Given the description of an element on the screen output the (x, y) to click on. 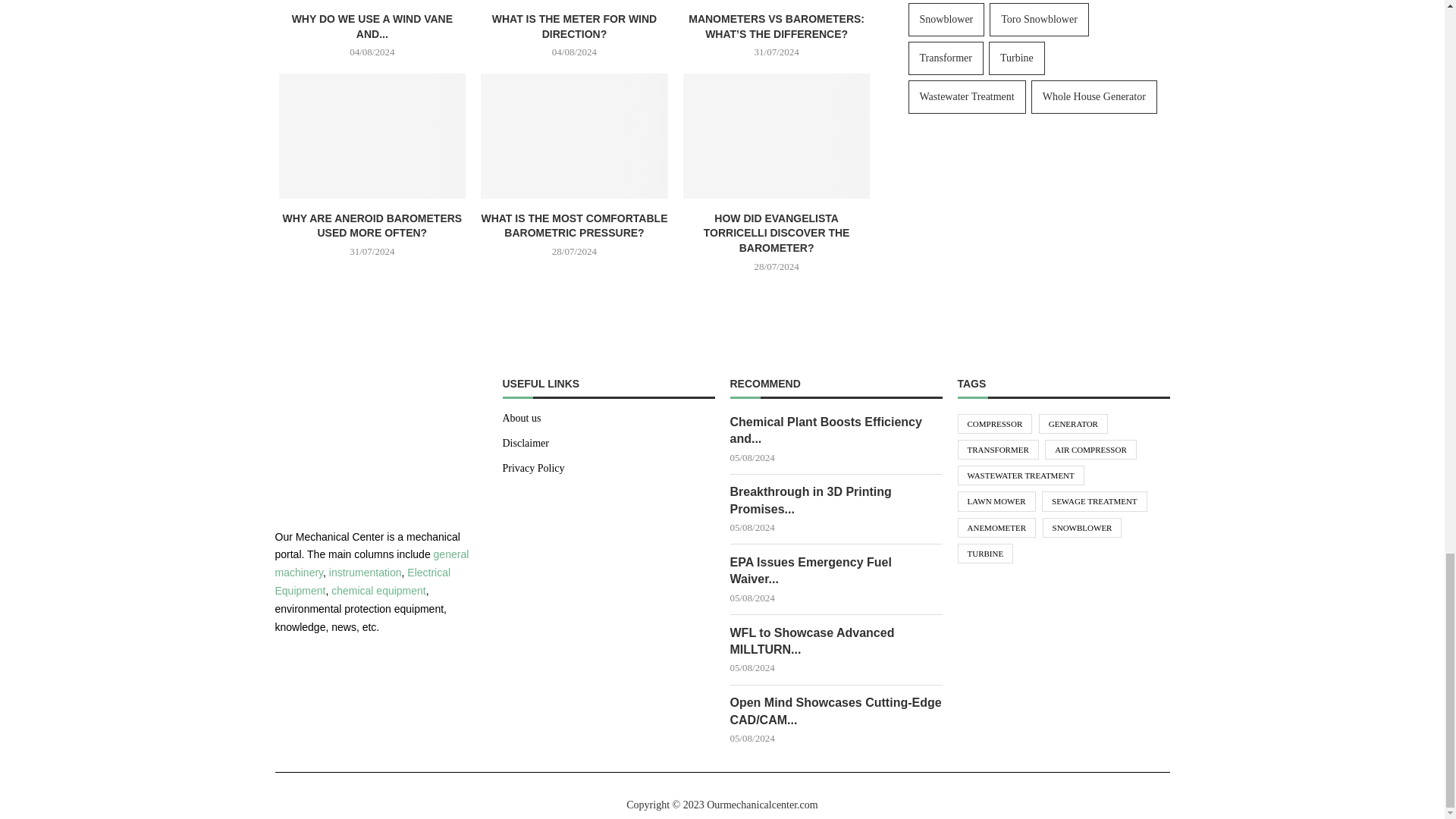
How did Evangelista Torricelli discover the barometer? (776, 135)
Why Are Aneroid Barometers Used More Often? (372, 135)
What Is The Most Comfortable Barometric Pressure? (574, 135)
